Given the description of an element on the screen output the (x, y) to click on. 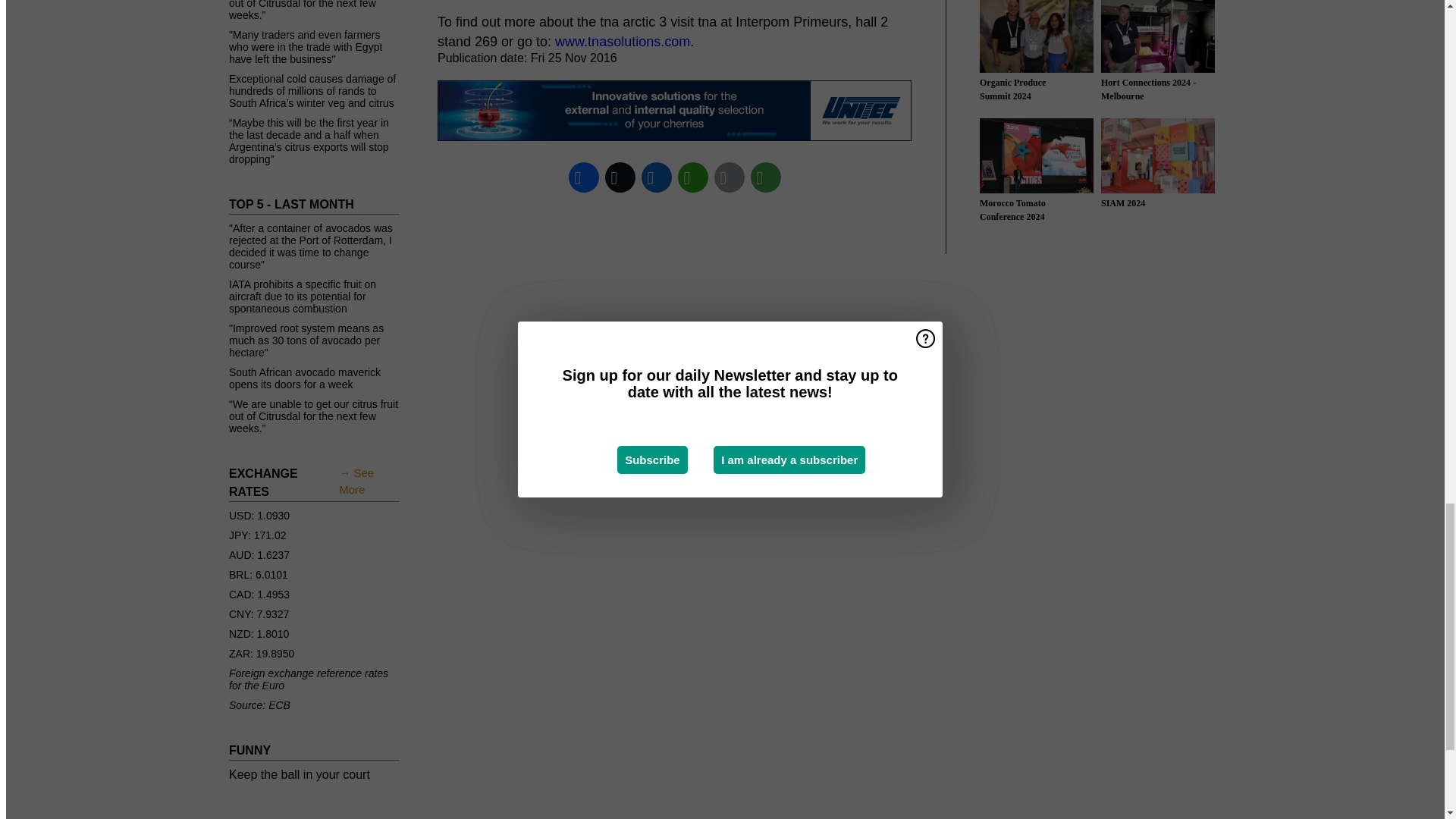
More Options (766, 176)
Email This (729, 176)
LinkedIn (657, 176)
Facebook (584, 176)
WhatsApp (693, 176)
